Given the description of an element on the screen output the (x, y) to click on. 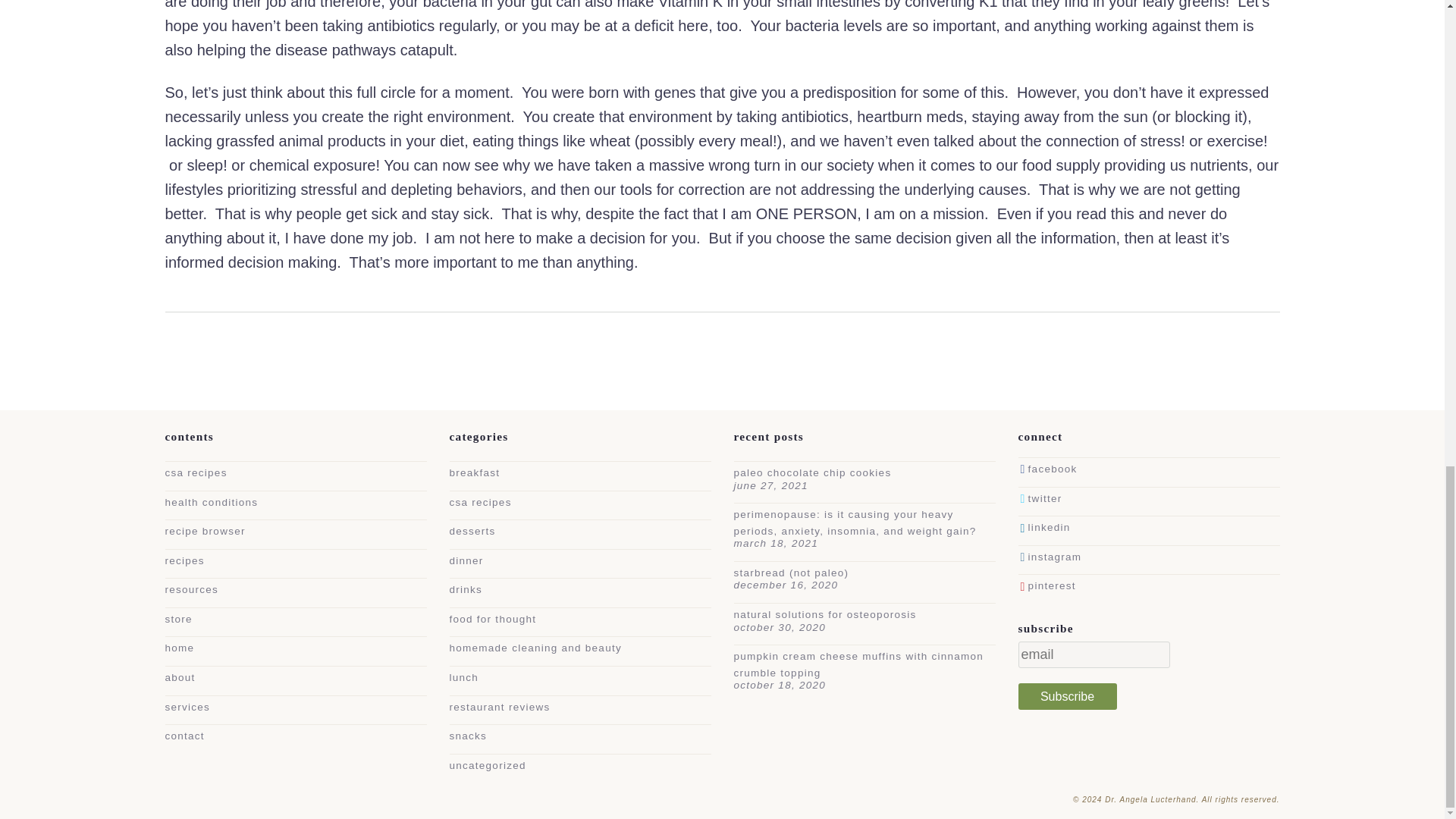
Dr. Angela Lucterhand (1190, 799)
health conditions (212, 501)
csa recipes (196, 472)
csa recipes (479, 501)
recipe browser (205, 531)
store (178, 618)
recipes (185, 560)
Subscribe (1066, 696)
contact (185, 736)
breakfast (473, 472)
